Given the description of an element on the screen output the (x, y) to click on. 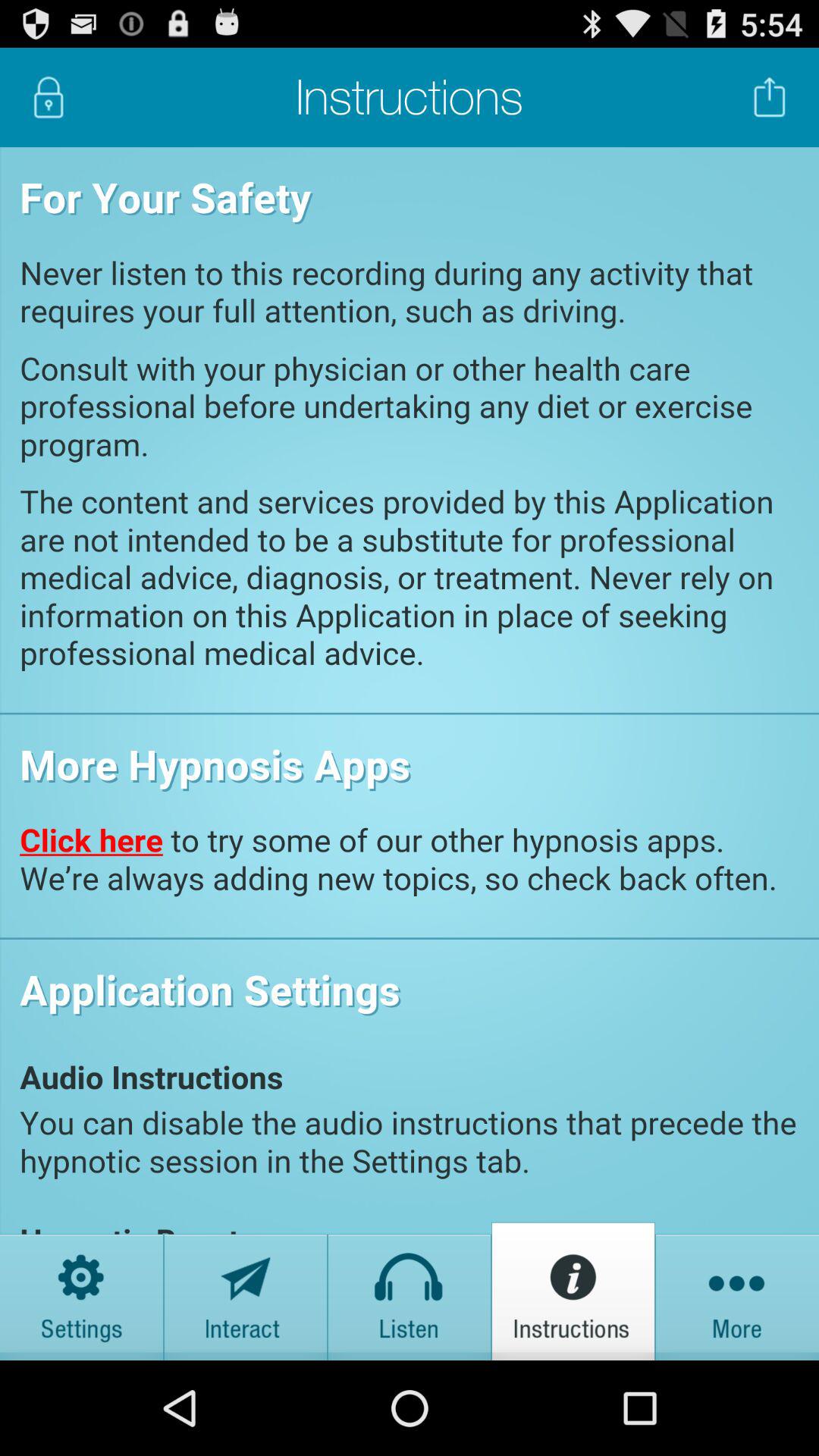
download this page (769, 97)
